Given the description of an element on the screen output the (x, y) to click on. 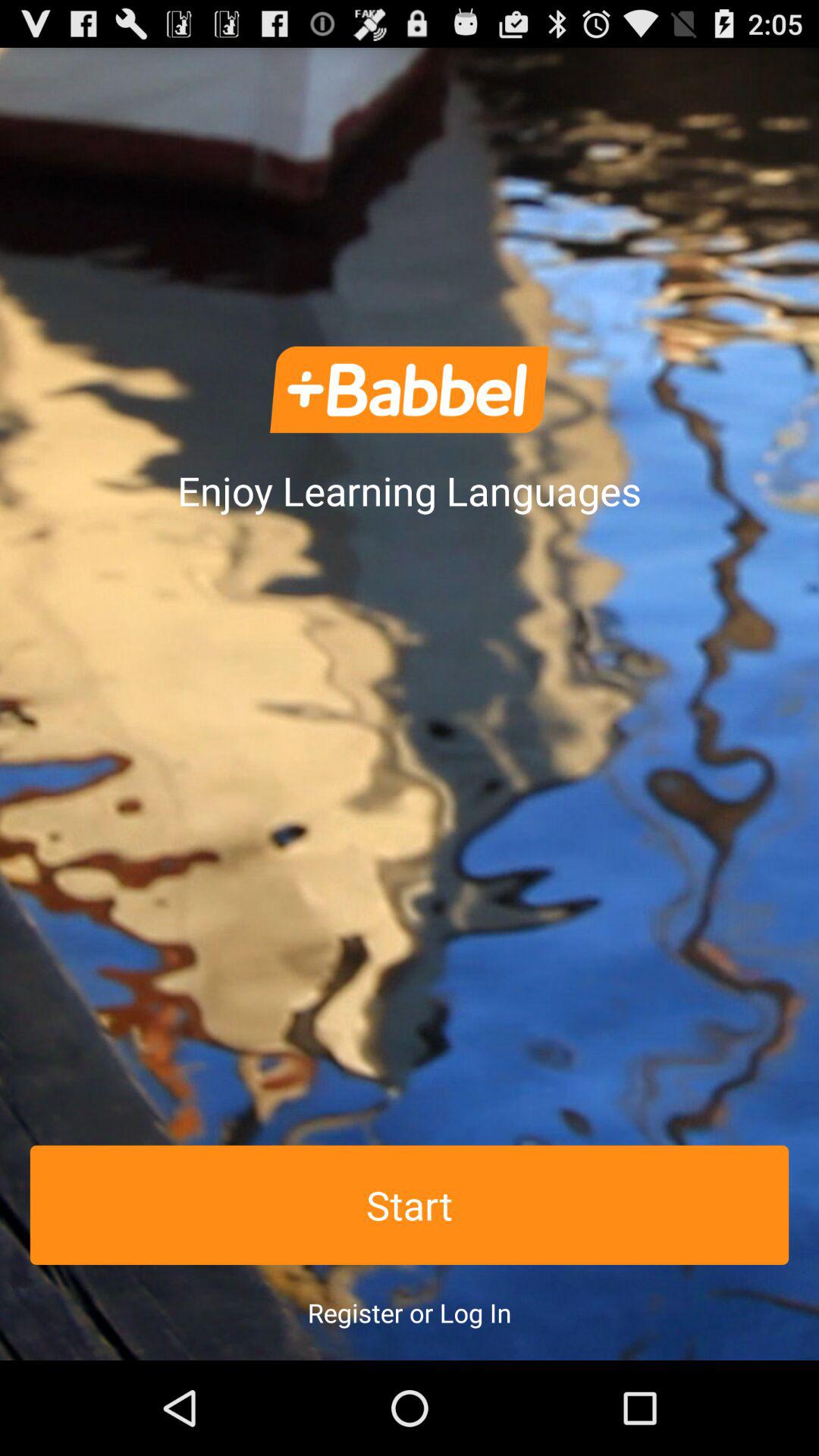
turn off item above enjoy learning languages item (409, 389)
